Given the description of an element on the screen output the (x, y) to click on. 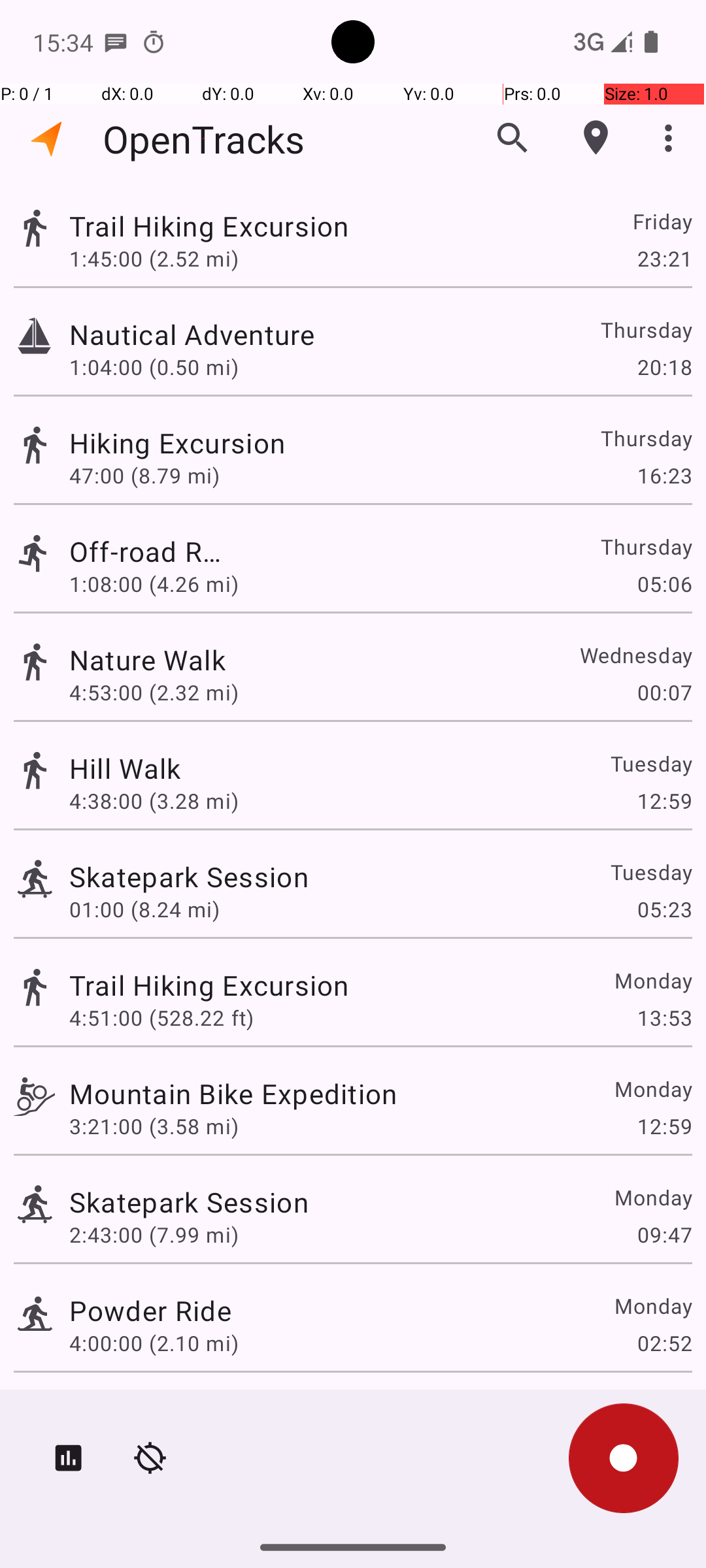
Trail Hiking Excursion Element type: android.widget.TextView (208, 225)
1:45:00 (2.52 mi) Element type: android.widget.TextView (161, 258)
23:21 Element type: android.widget.TextView (664, 258)
Nautical Adventure Element type: android.widget.TextView (233, 333)
1:04:00 (0.50 mi) Element type: android.widget.TextView (153, 366)
20:18 Element type: android.widget.TextView (664, 366)
Hiking Excursion Element type: android.widget.TextView (188, 442)
47:00 (8.79 mi) Element type: android.widget.TextView (153, 475)
16:23 Element type: android.widget.TextView (664, 475)
Off-road Run Element type: android.widget.TextView (150, 550)
1:08:00 (4.26 mi) Element type: android.widget.TextView (153, 583)
05:06 Element type: android.widget.TextView (664, 583)
Nature Walk Element type: android.widget.TextView (194, 659)
4:53:00 (2.32 mi) Element type: android.widget.TextView (159, 692)
00:07 Element type: android.widget.TextView (664, 692)
Hill Walk Element type: android.widget.TextView (124, 767)
4:38:00 (3.28 mi) Element type: android.widget.TextView (153, 800)
12:59 Element type: android.widget.TextView (664, 800)
Skatepark Session Element type: android.widget.TextView (188, 876)
01:00 (8.24 mi) Element type: android.widget.TextView (144, 909)
05:23 Element type: android.widget.TextView (664, 909)
4:51:00 (528.22 ft) Element type: android.widget.TextView (161, 1017)
13:53 Element type: android.widget.TextView (664, 1017)
Mountain Bike Expedition Element type: android.widget.TextView (233, 1092)
3:21:00 (3.58 mi) Element type: android.widget.TextView (153, 1125)
2:43:00 (7.99 mi) Element type: android.widget.TextView (153, 1234)
09:47 Element type: android.widget.TextView (664, 1234)
Powder Ride Element type: android.widget.TextView (150, 1309)
4:00:00 (2.10 mi) Element type: android.widget.TextView (153, 1342)
02:52 Element type: android.widget.TextView (664, 1342)
Climbing Adventure Element type: android.widget.TextView (194, 1408)
